Given the description of an element on the screen output the (x, y) to click on. 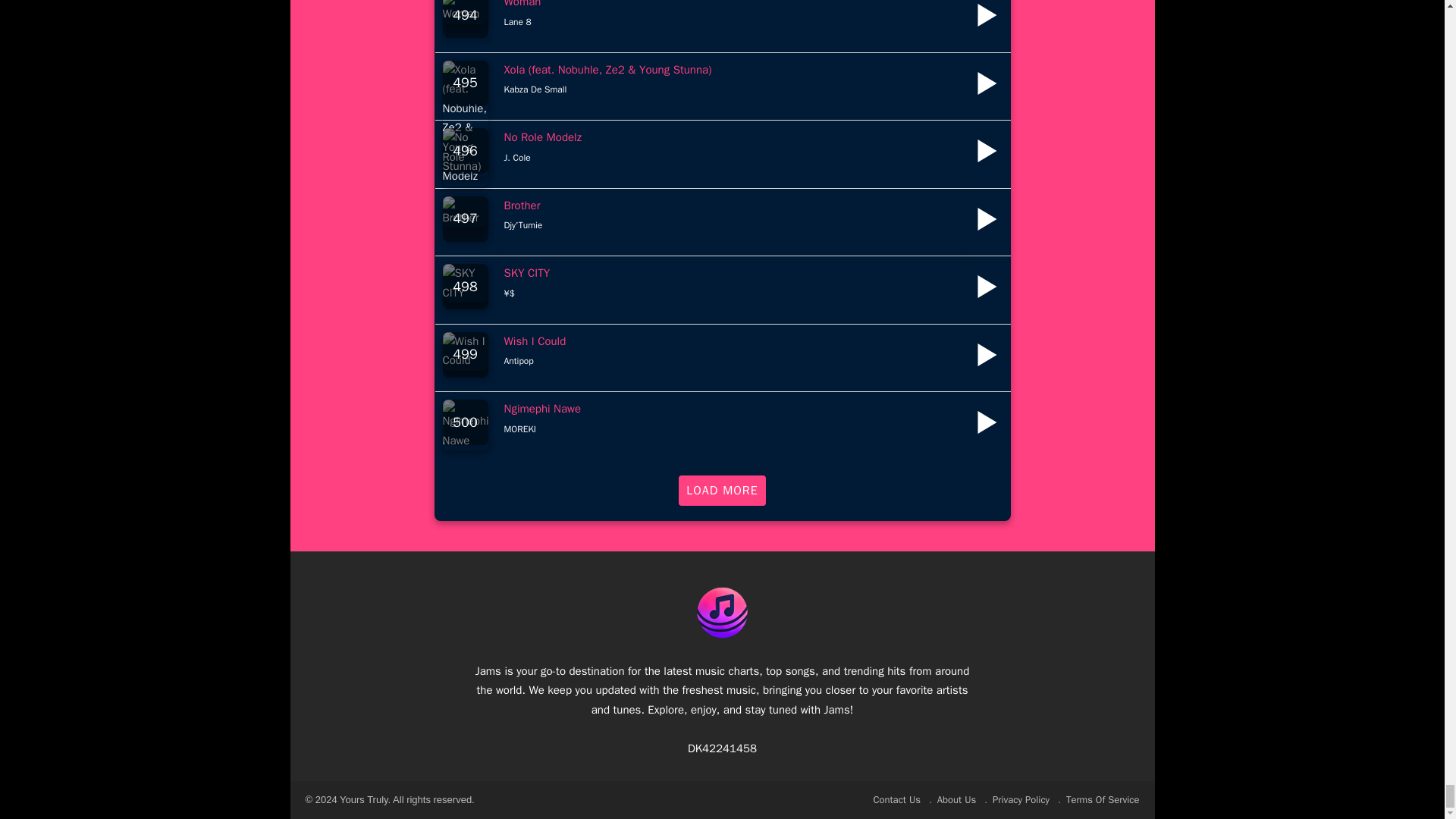
Jams (721, 611)
